Given the description of an element on the screen output the (x, y) to click on. 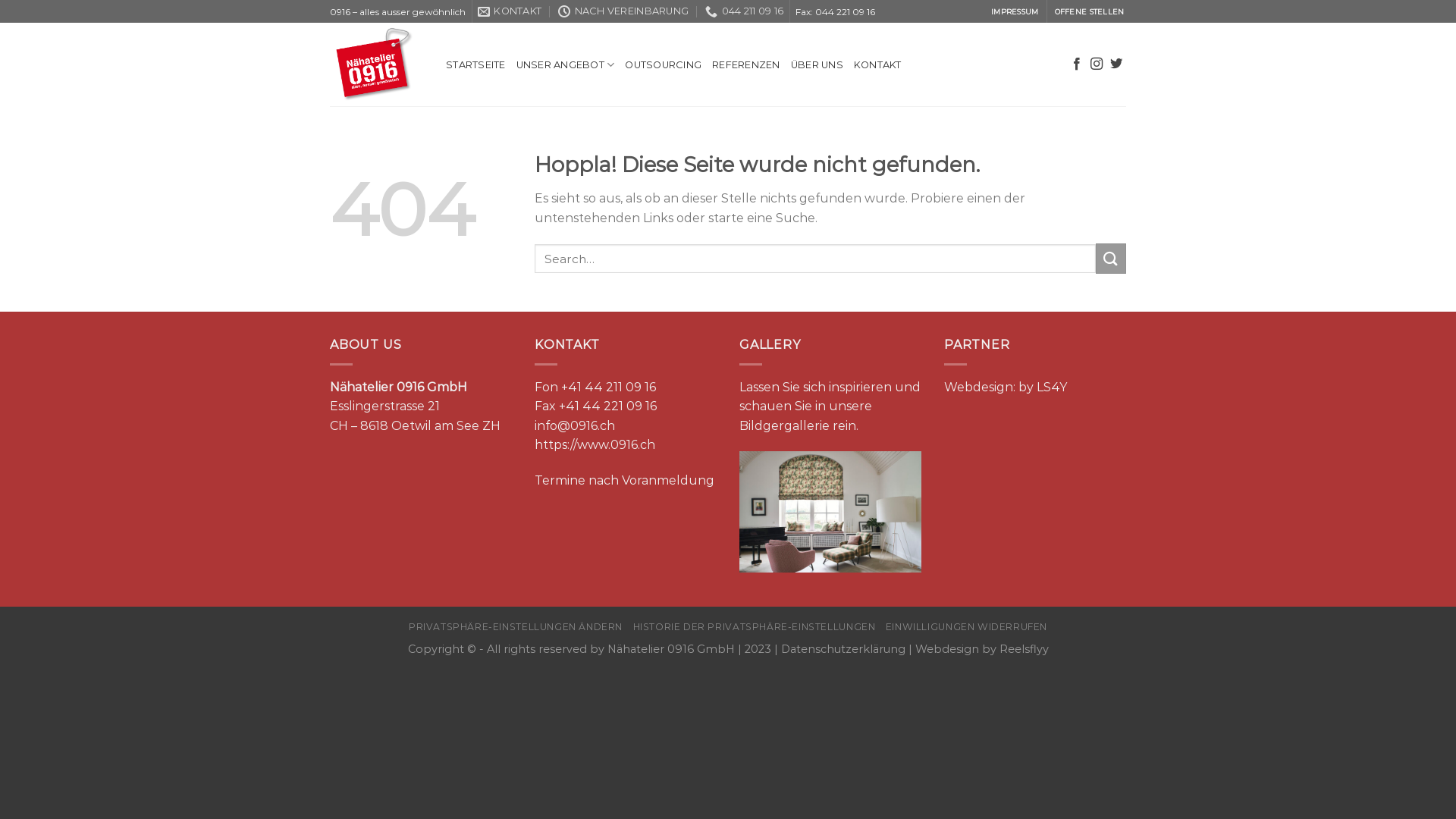
Auf Facebook folgen Element type: hover (1076, 64)
044 211 09 16 Element type: text (744, 11)
IMPRESSUM Element type: text (1014, 11)
KONTAKT Element type: text (509, 11)
REFERENZEN Element type: text (746, 64)
NACH VEREINBARUNG Element type: text (623, 11)
OFFENE STELLEN Element type: text (1089, 11)
STARTSEITE Element type: text (475, 64)
OUTSOURCING Element type: text (662, 64)
Auf Twitter folgen Element type: hover (1116, 64)
| Webdesign by Reelsflyy Element type: text (976, 648)
LS4Y Element type: text (1051, 386)
EINWILLIGUNGEN WIDERRUFEN Element type: text (966, 626)
Auf Instagram folgen Element type: hover (1096, 64)
KONTAKT Element type: text (877, 64)
UNSER ANGEBOT Element type: text (565, 64)
